Given the description of an element on the screen output the (x, y) to click on. 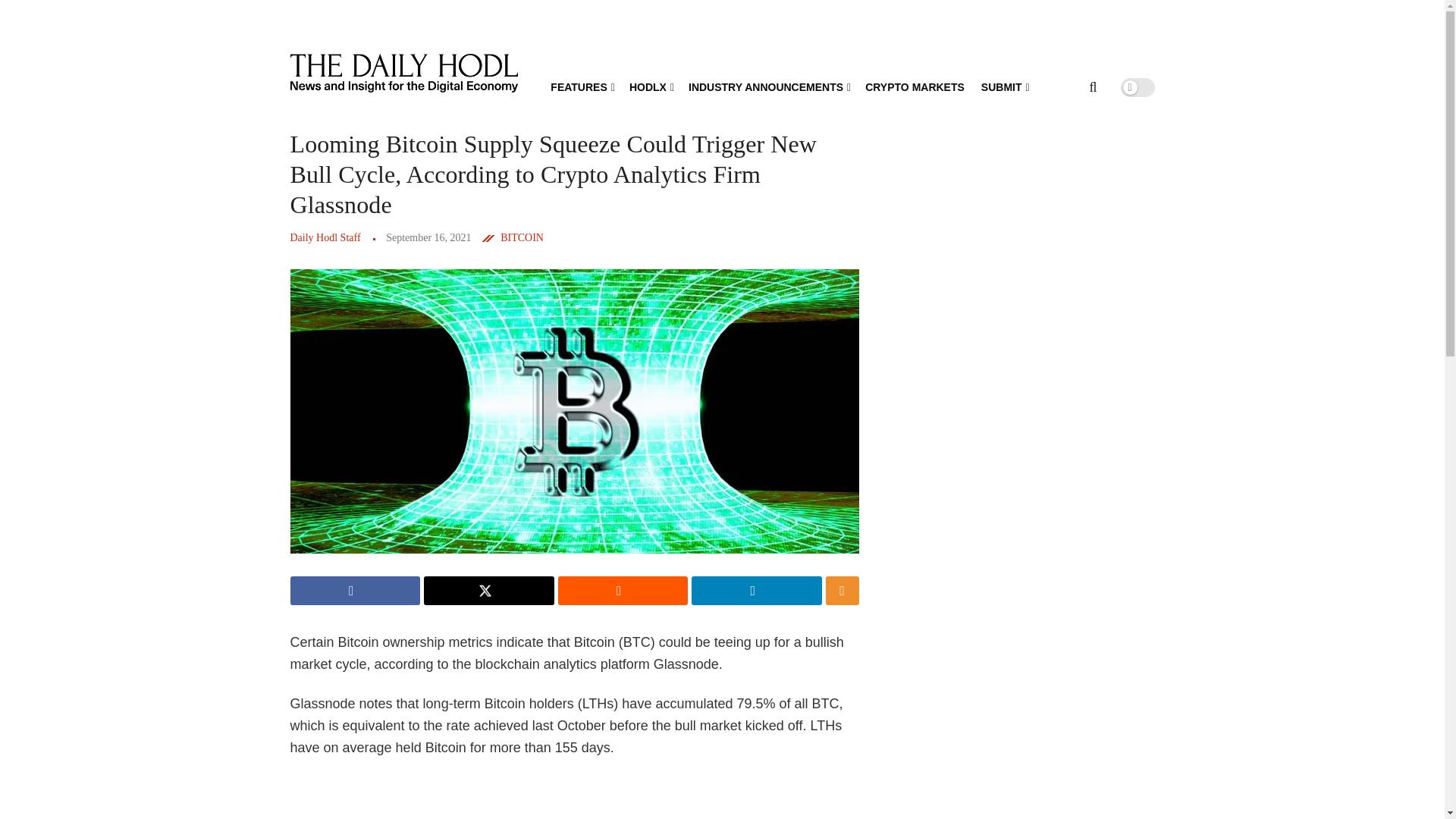
HODLX (649, 86)
CRYPTO MARKETS (913, 86)
Advertisement (581, 797)
FEATURES (581, 86)
SUBMIT (1004, 86)
INDUSTRY ANNOUNCEMENTS (768, 86)
